Given the description of an element on the screen output the (x, y) to click on. 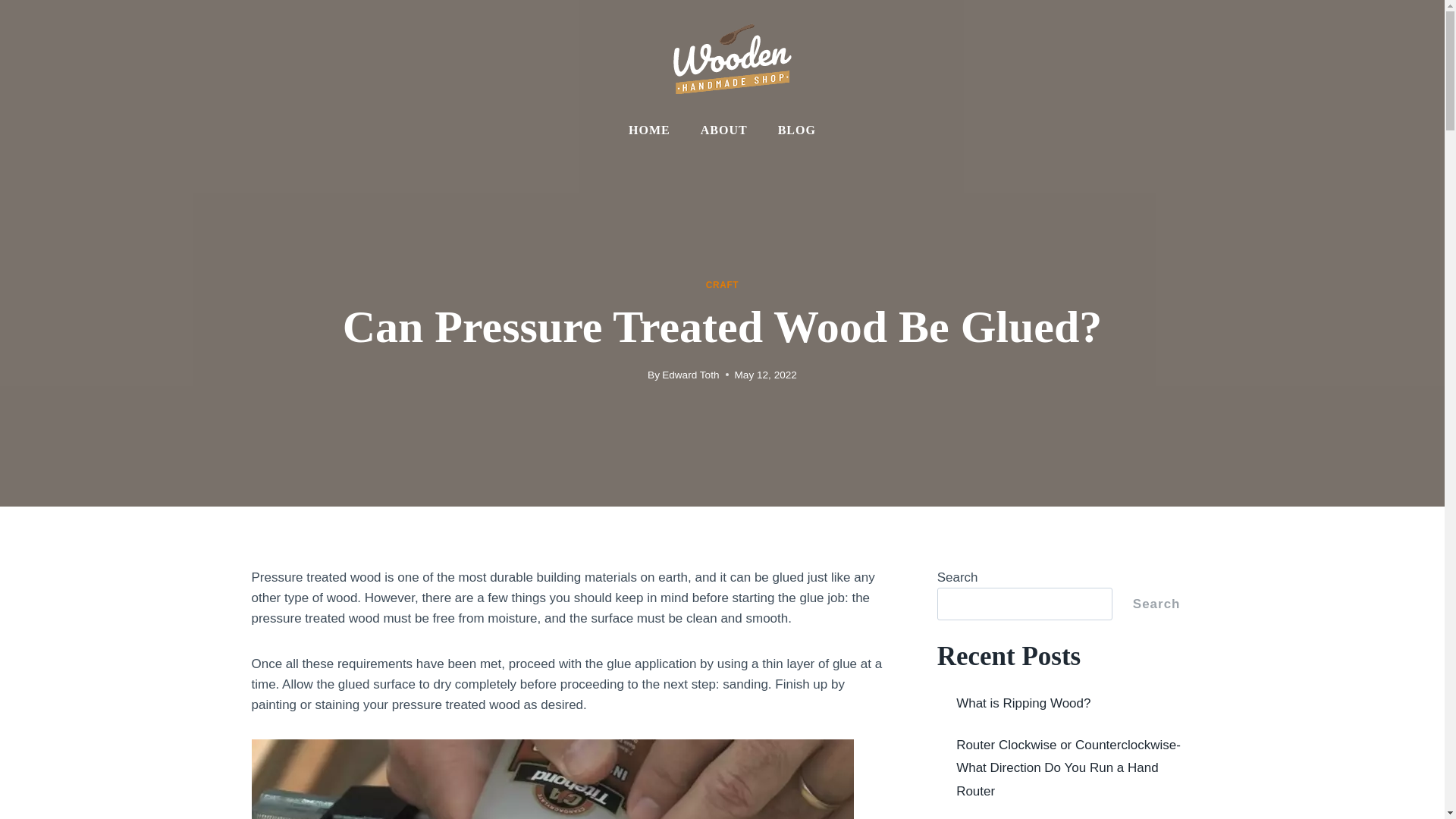
BLOG (796, 129)
HOME (648, 129)
ABOUT (723, 129)
CRAFT (722, 285)
Edward Toth (690, 374)
